Given the description of an element on the screen output the (x, y) to click on. 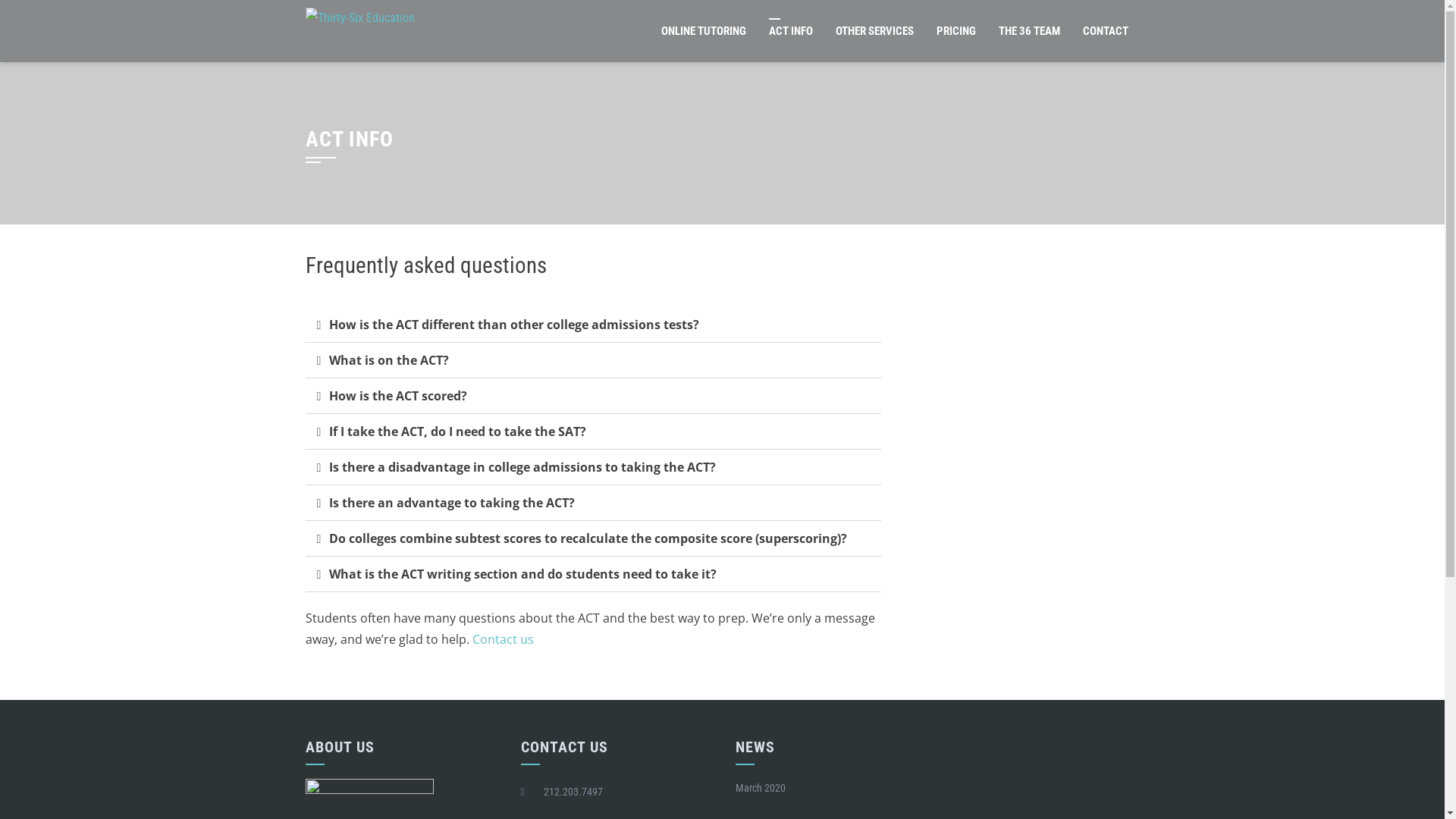
Contact us Element type: text (502, 638)
PRICING Element type: text (956, 31)
OTHER SERVICES Element type: text (873, 31)
ONLINE TUTORING Element type: text (702, 31)
How is the ACT scored? Element type: text (398, 395)
If I take the ACT, do I need to take the SAT? Element type: text (457, 431)
March 2020 Element type: text (760, 787)
CONTACT Element type: text (1104, 31)
Is there an advantage to taking the ACT? Element type: text (451, 502)
ACT INFO Element type: text (789, 31)
What is on the ACT? Element type: text (388, 359)
THE 36 TEAM Element type: text (1029, 31)
